Given the description of an element on the screen output the (x, y) to click on. 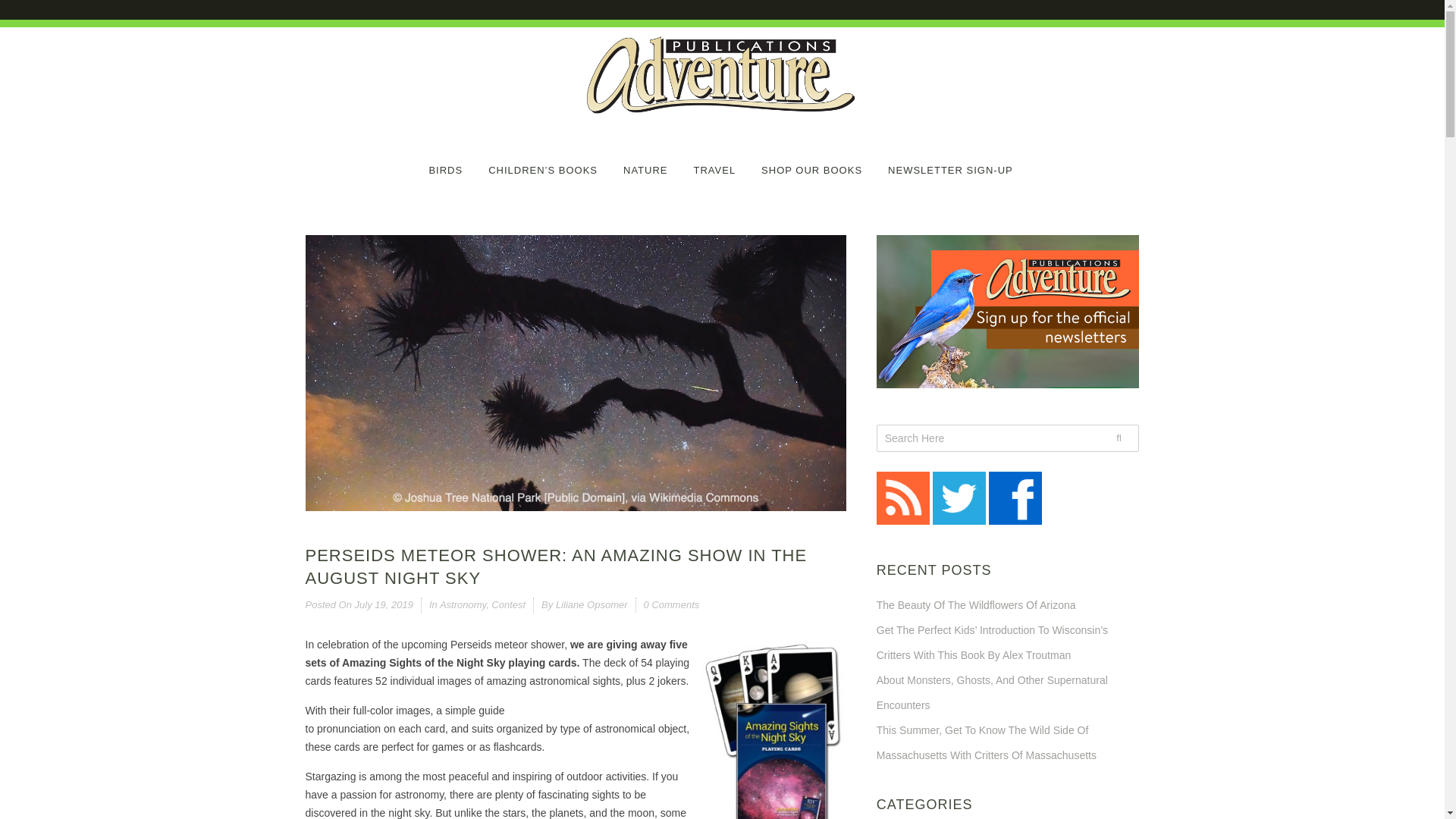
Astronomy (462, 604)
Liliane Opsomer (591, 604)
0 Comments (671, 604)
Contest (508, 604)
SHOP OUR BOOKS (811, 161)
NEWSLETTER SIGN-UP (950, 161)
